Given the description of an element on the screen output the (x, y) to click on. 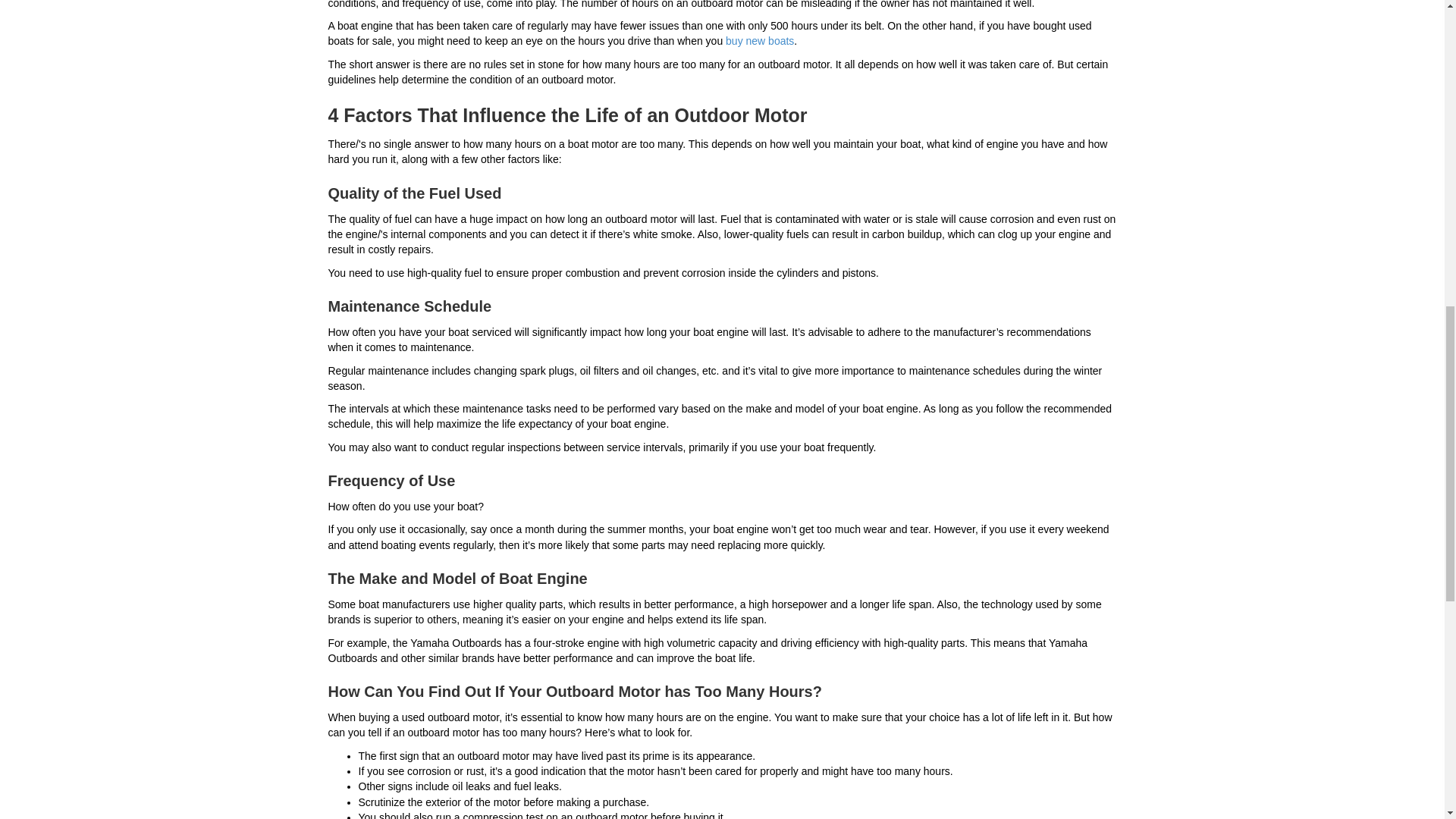
buy new boats (759, 40)
